Given the description of an element on the screen output the (x, y) to click on. 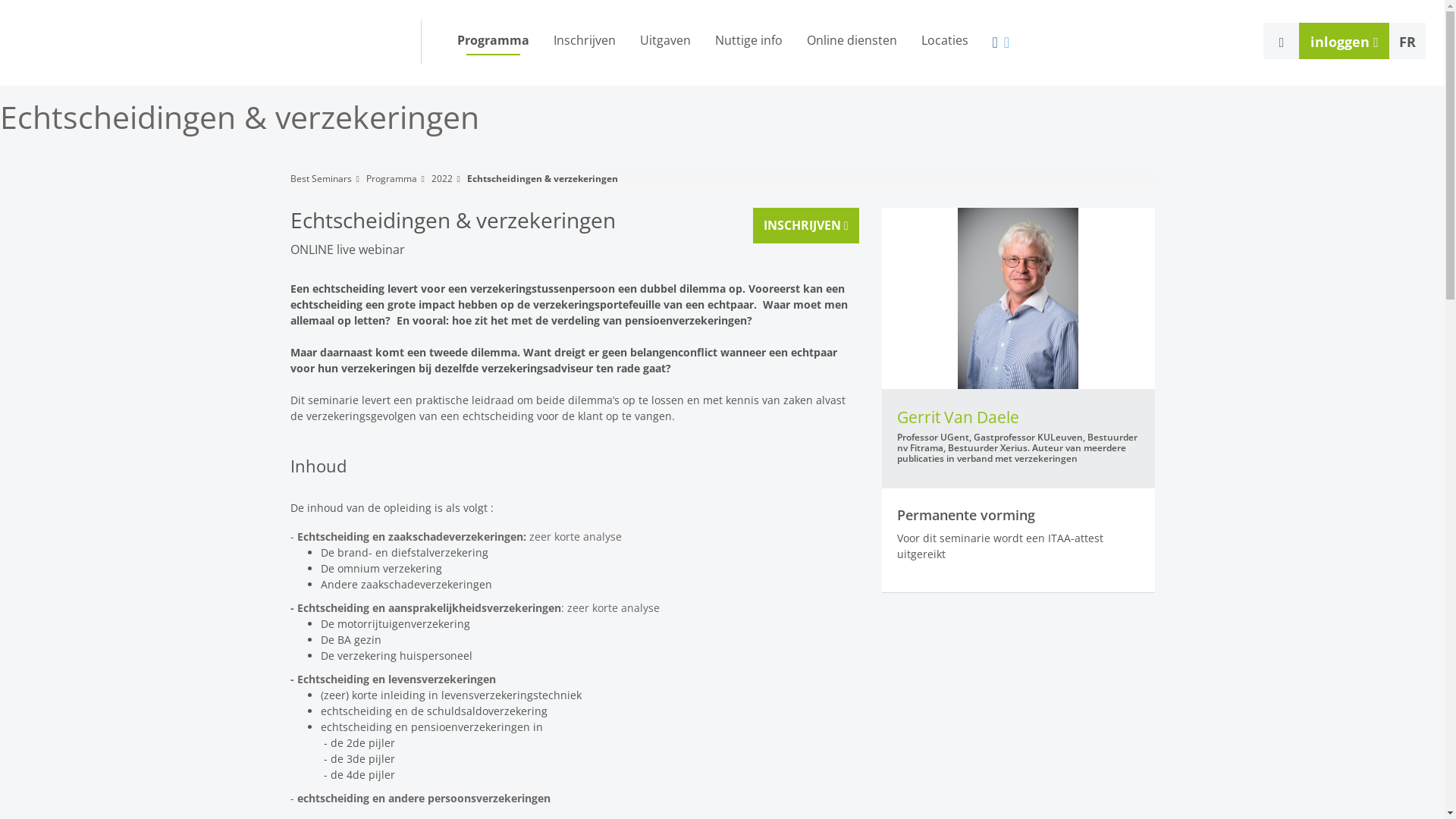
Uitgaven Element type: text (664, 40)
Nuttige info Element type: text (747, 40)
Programma Element type: text (492, 40)
Locaties Element type: text (943, 40)
2022 Element type: text (448, 178)
FR Element type: text (1407, 40)
Best Seminars Element type: text (327, 178)
Online diensten Element type: text (851, 40)
inloggen Element type: text (1344, 40)
Echtscheidingen & verzekeringen Element type: text (549, 178)
Programma Element type: text (397, 178)
Inschrijven Element type: text (584, 40)
INSCHRIJVEN Element type: text (806, 225)
